Given the description of an element on the screen output the (x, y) to click on. 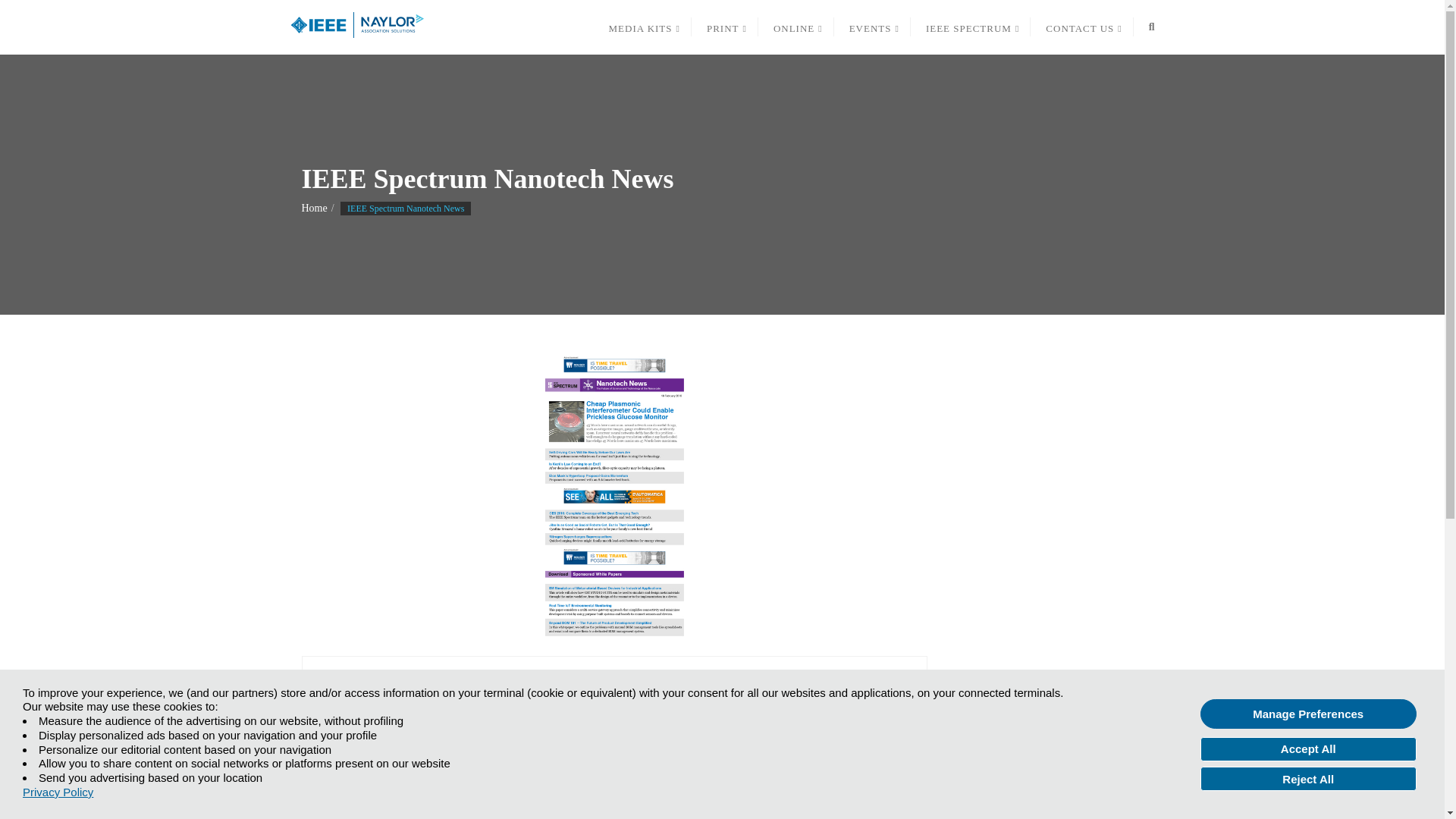
CONTACT US (1081, 27)
PRINT (724, 27)
MEDIA KITS (641, 27)
Accept All (1307, 749)
Reject All (1307, 778)
EVENTS (872, 27)
ONLINE (796, 27)
IEEE SPECTRUM (970, 27)
Privacy Policy (58, 792)
Manage Preferences (1307, 713)
